Given the description of an element on the screen output the (x, y) to click on. 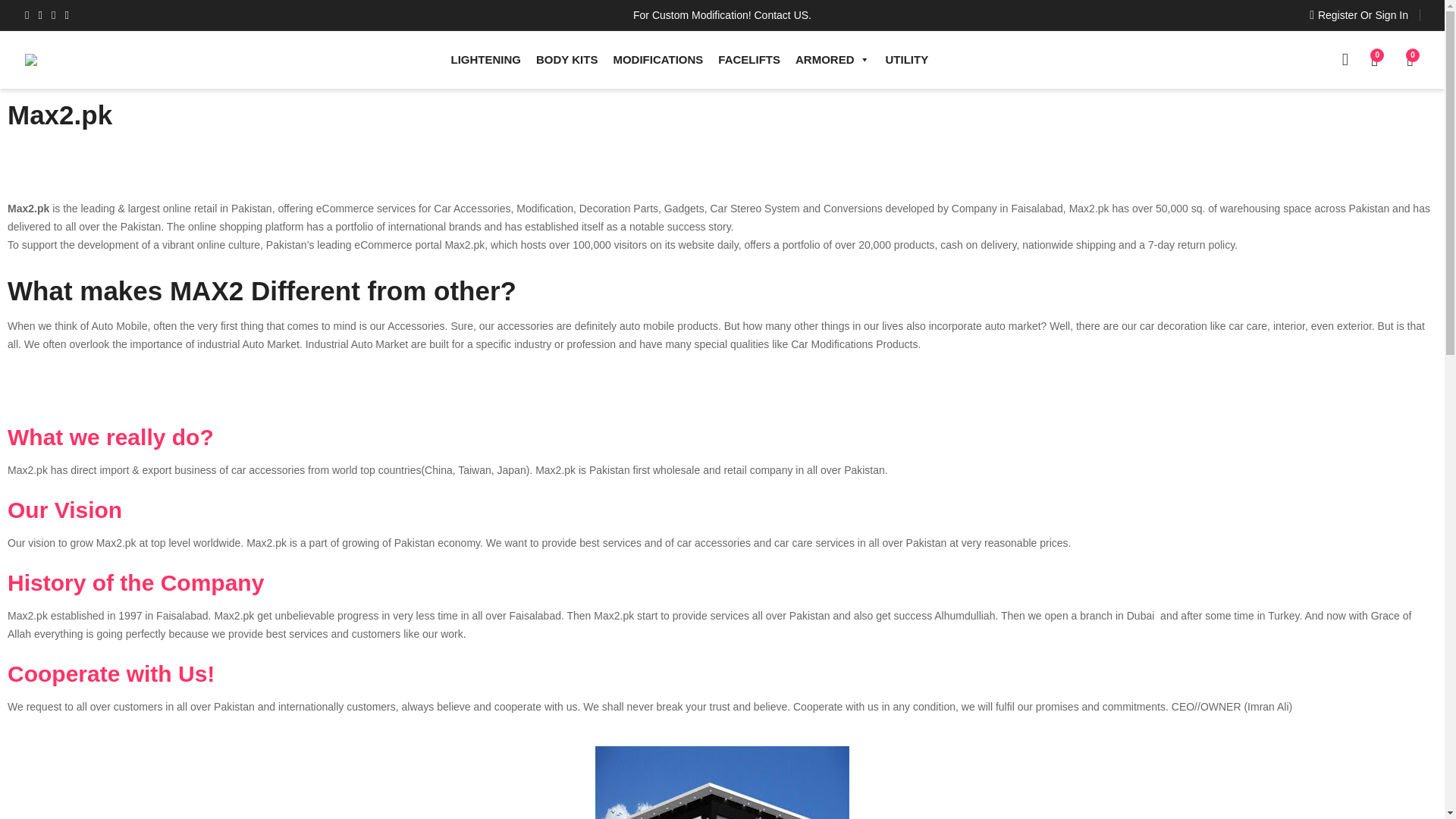
FACELIFTS (748, 59)
Register Or Sign In (1357, 15)
MODIFICATIONS (657, 59)
BODY KITS (566, 59)
LIGHTENING (486, 59)
Max2.pk (27, 469)
ARMORED (832, 59)
UTILITY (906, 59)
